Given the description of an element on the screen output the (x, y) to click on. 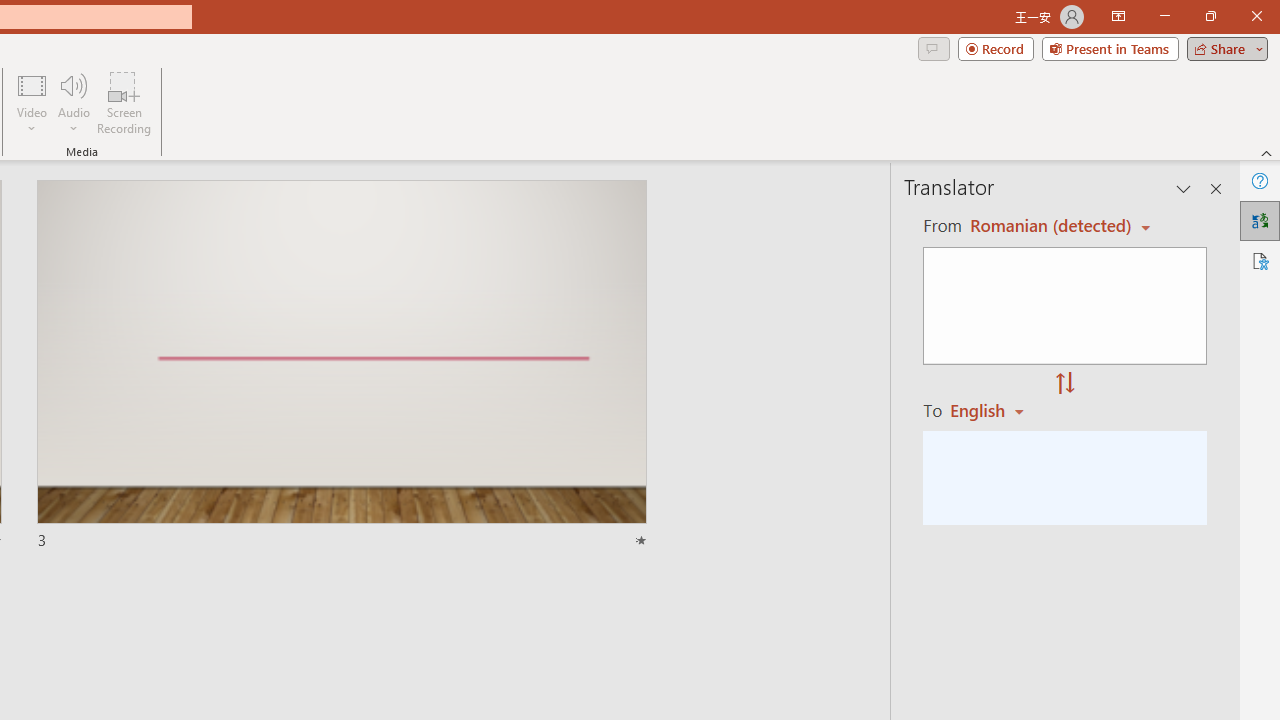
Video (31, 102)
Romanian (994, 409)
Screen Recording... (123, 102)
